Given the description of an element on the screen output the (x, y) to click on. 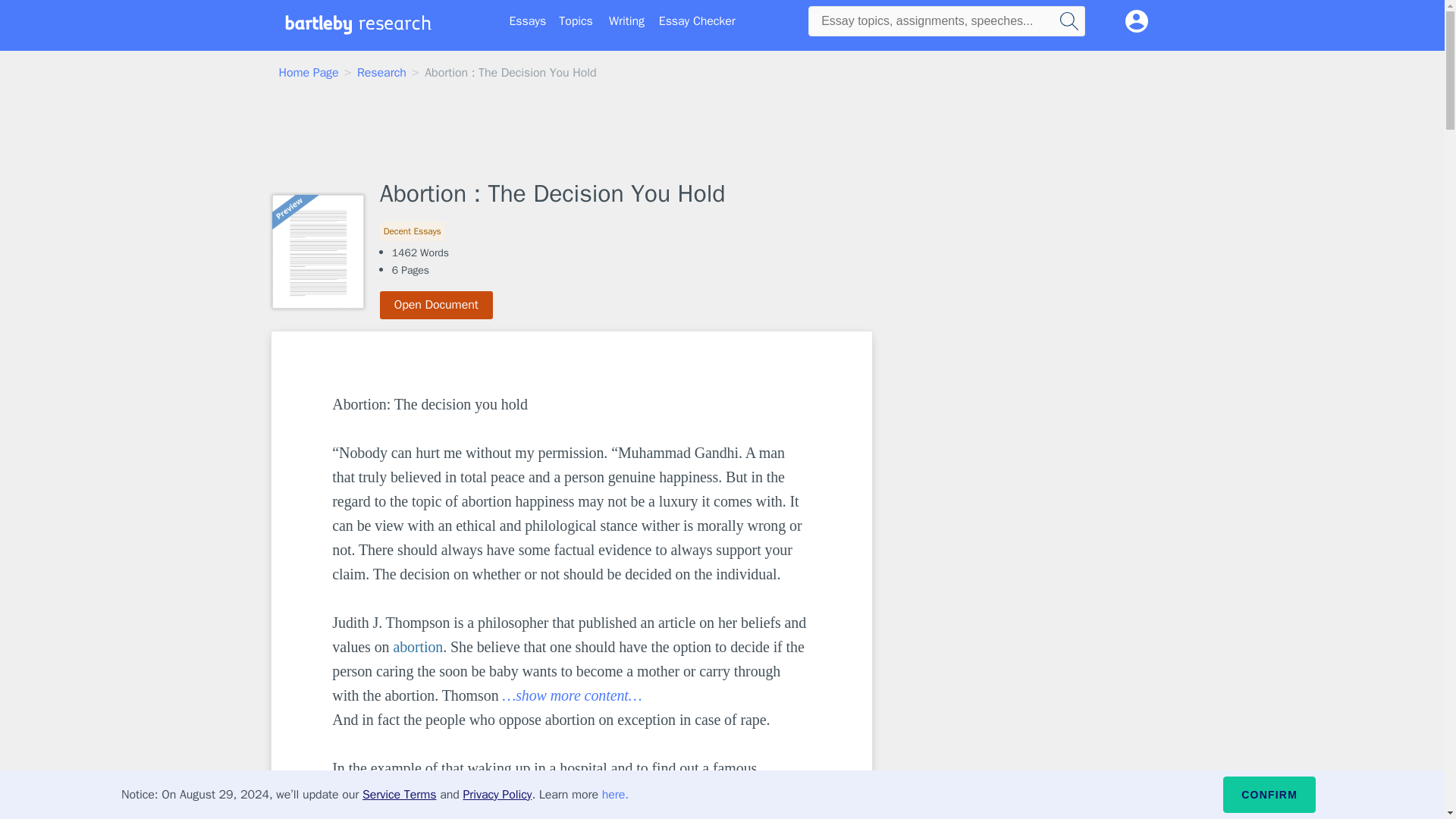
Writing (626, 20)
Home Page (309, 72)
Topics (575, 20)
Essay Checker (697, 20)
abortion (417, 646)
Open Document (436, 305)
Essays (528, 20)
Research (381, 72)
